Given the description of an element on the screen output the (x, y) to click on. 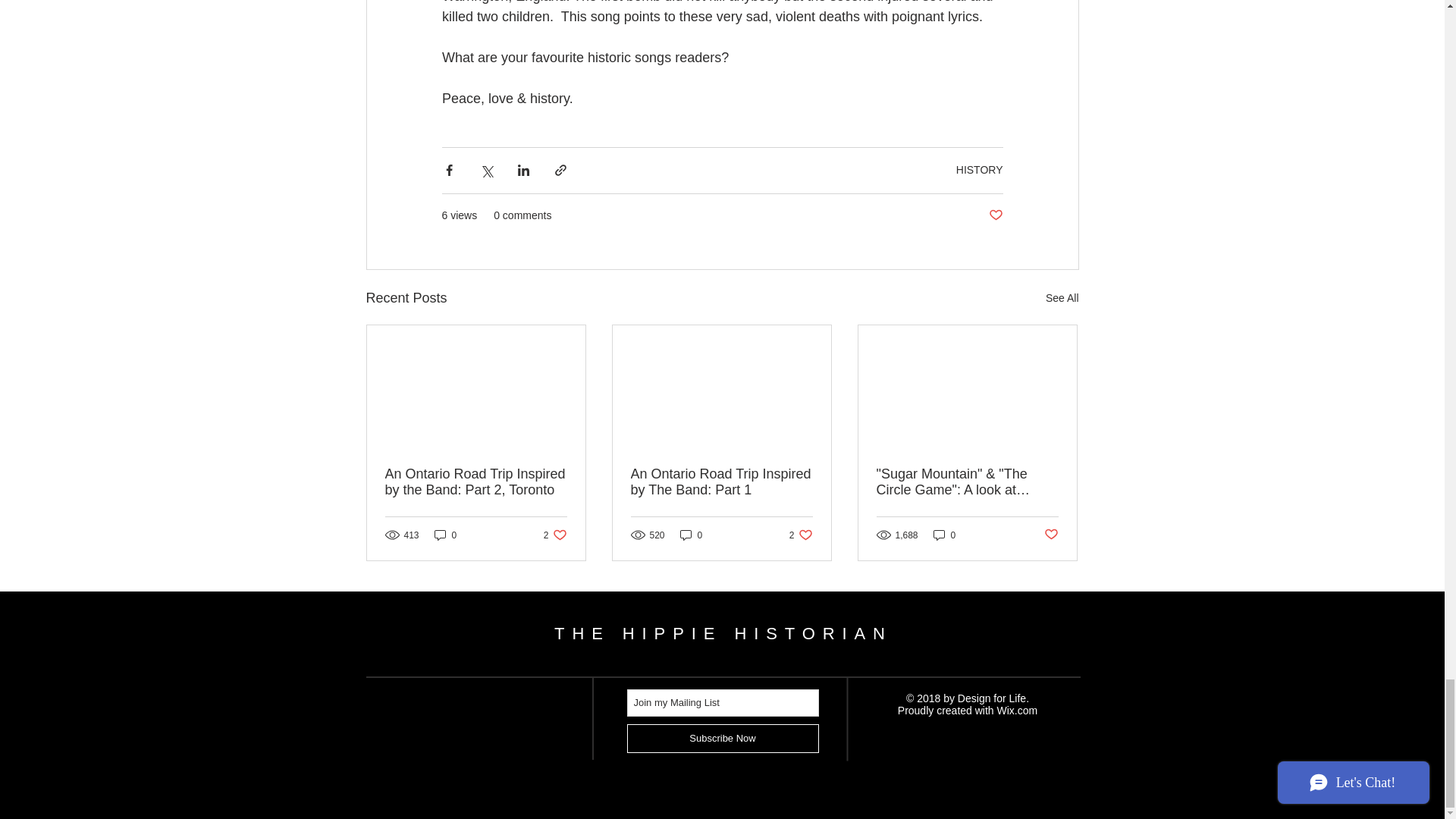
Wix.com (1017, 710)
An Ontario Road Trip Inspired by The Band: Part 1 (721, 481)
Post not marked as liked (1050, 534)
0 (445, 534)
THE HIPPIE HISTORIAN (723, 633)
Subscribe Now (722, 737)
Post not marked as liked (800, 534)
An Ontario Road Trip Inspired by the Band: Part 2, Toronto (995, 215)
0 (476, 481)
0 (691, 534)
See All (944, 534)
HISTORY (1061, 298)
